Given the description of an element on the screen output the (x, y) to click on. 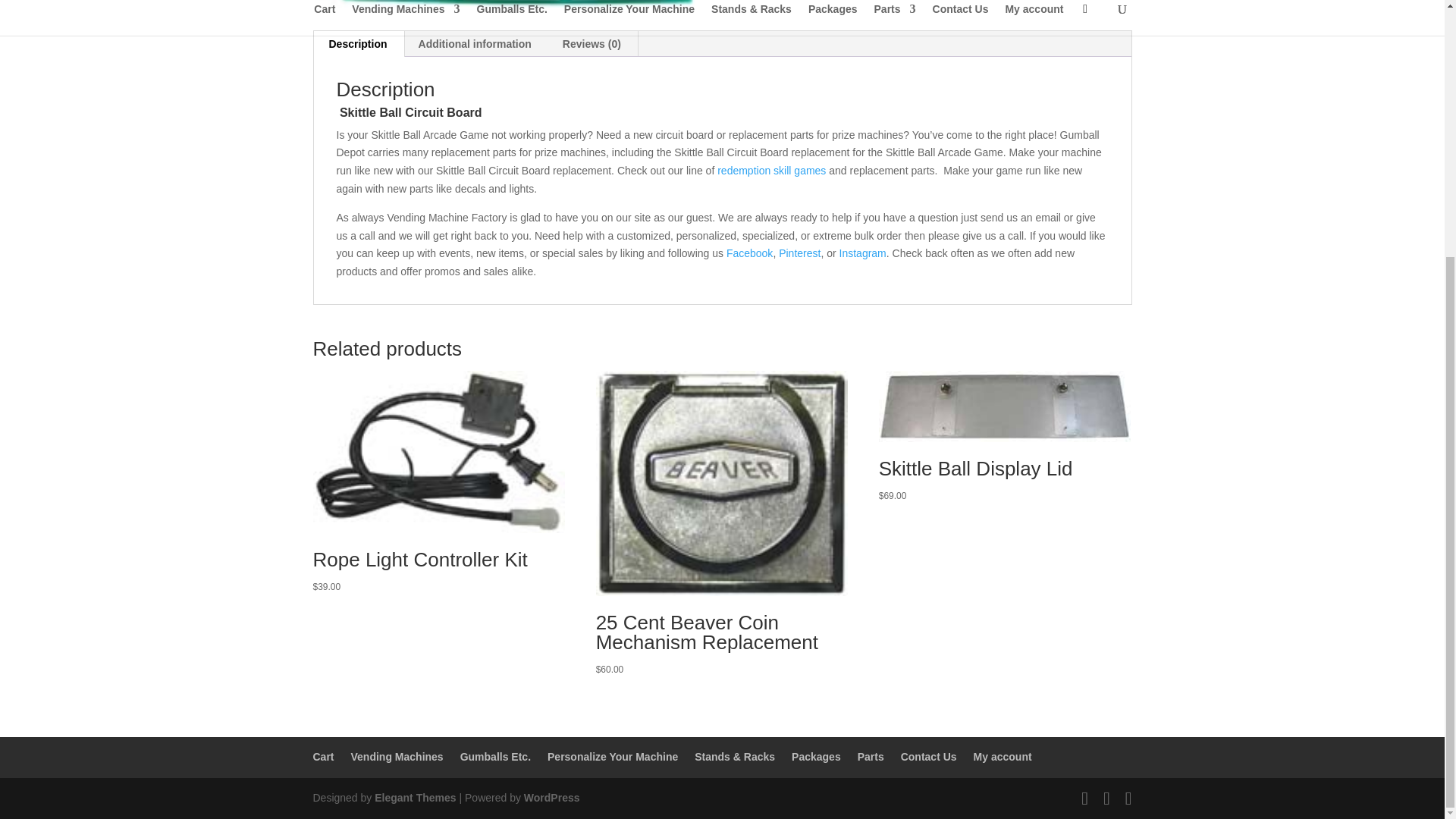
Skittle Ball Circuit Board (508, 3)
Premium WordPress Themes (414, 797)
